Given the description of an element on the screen output the (x, y) to click on. 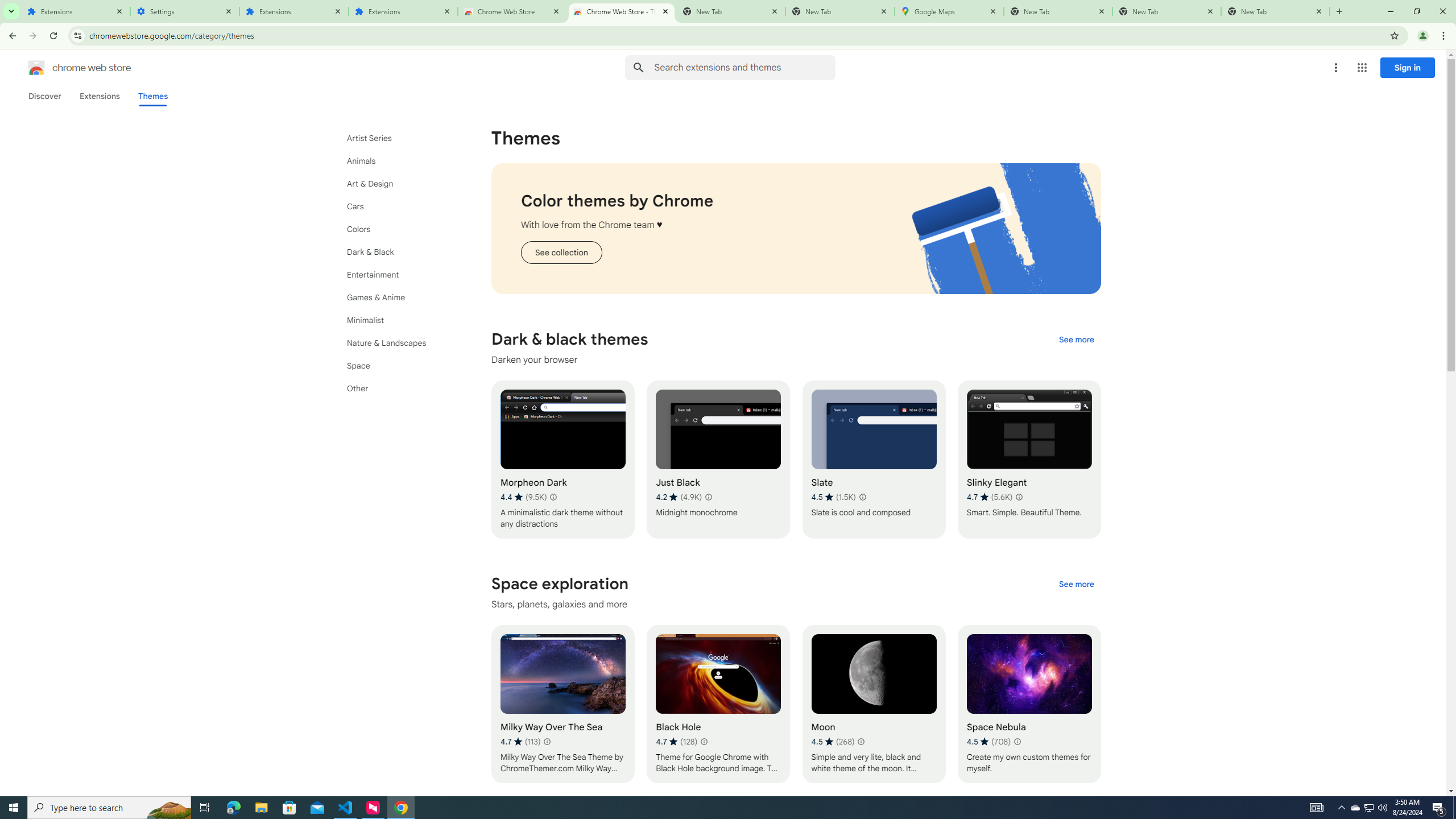
Average rating 4.7 out of 5 stars. 113 ratings. (519, 741)
Nature & Landscapes (398, 342)
Milky Way Over The Sea (562, 703)
Search input (744, 67)
Space (398, 365)
Animals (398, 160)
Average rating 4.5 out of 5 stars. 1.5K ratings. (833, 496)
Chrome Web Store (512, 11)
Moon (873, 703)
Average rating 4.5 out of 5 stars. 708 ratings. (988, 741)
New Tab (839, 11)
Extensions (99, 95)
Other (398, 387)
